Given the description of an element on the screen output the (x, y) to click on. 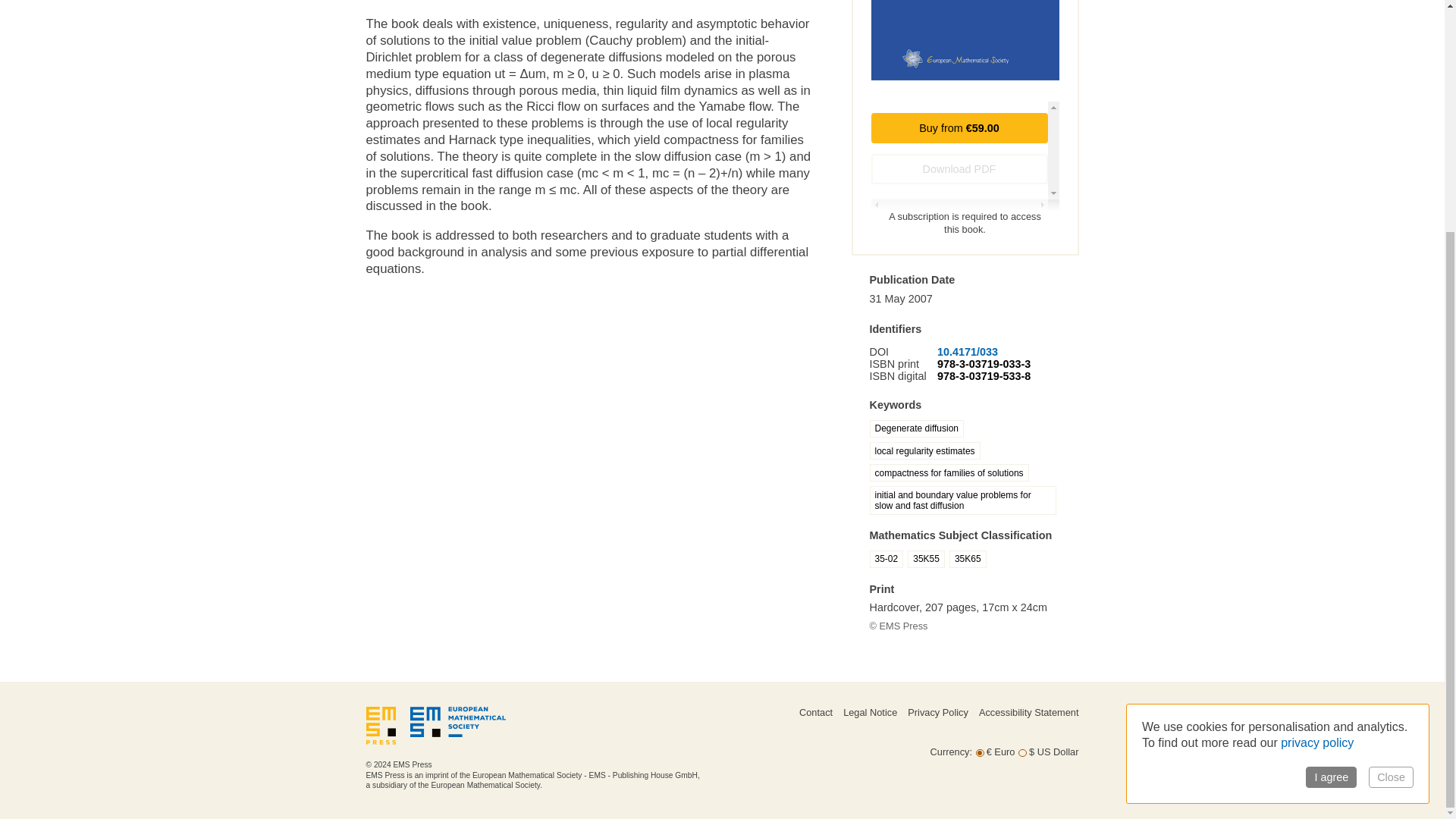
Accessibility Statement (1028, 712)
Close (1390, 463)
Download PDF (958, 168)
Contact (815, 712)
USD (1021, 753)
EUR (979, 753)
Currently you do not have access to this article. (958, 168)
Privacy Policy (937, 712)
Footer Navigation (889, 726)
I agree (1331, 463)
Legal Notice (869, 712)
privacy policy (1317, 428)
